Given the description of an element on the screen output the (x, y) to click on. 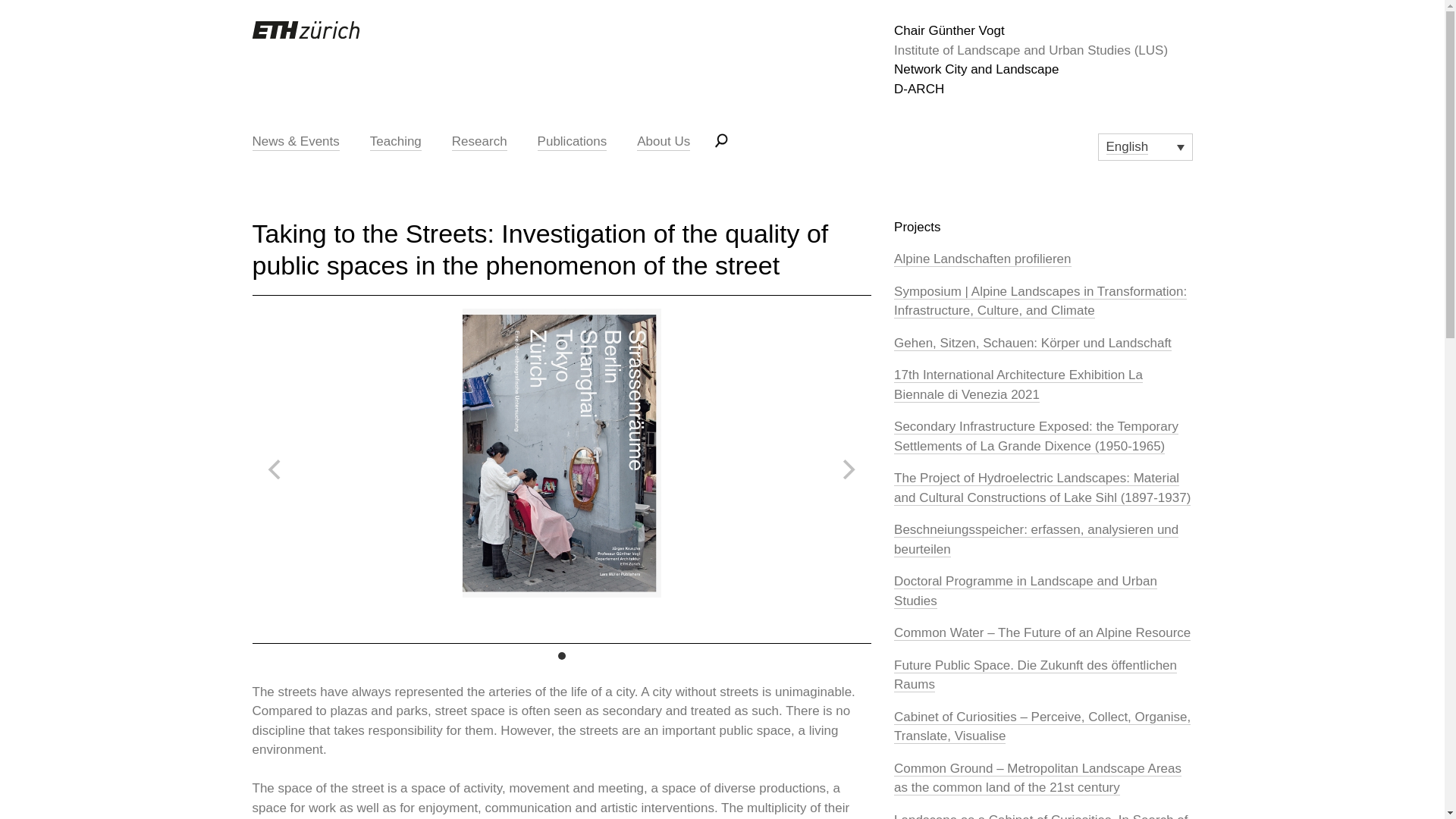
Publications (572, 141)
About Us (662, 141)
Teaching (395, 141)
Search (920, 250)
Alpine Landschaften profilieren (981, 258)
Projects (916, 227)
Research (479, 141)
Doctoral Programme in Landscape and Urban Studies (1025, 591)
Beschneiungsspeicher: erfassen, analysieren und beurteilen (1035, 539)
English (1144, 146)
Network City and Landscape (1042, 69)
D-ARCH (1042, 88)
